Given the description of an element on the screen output the (x, y) to click on. 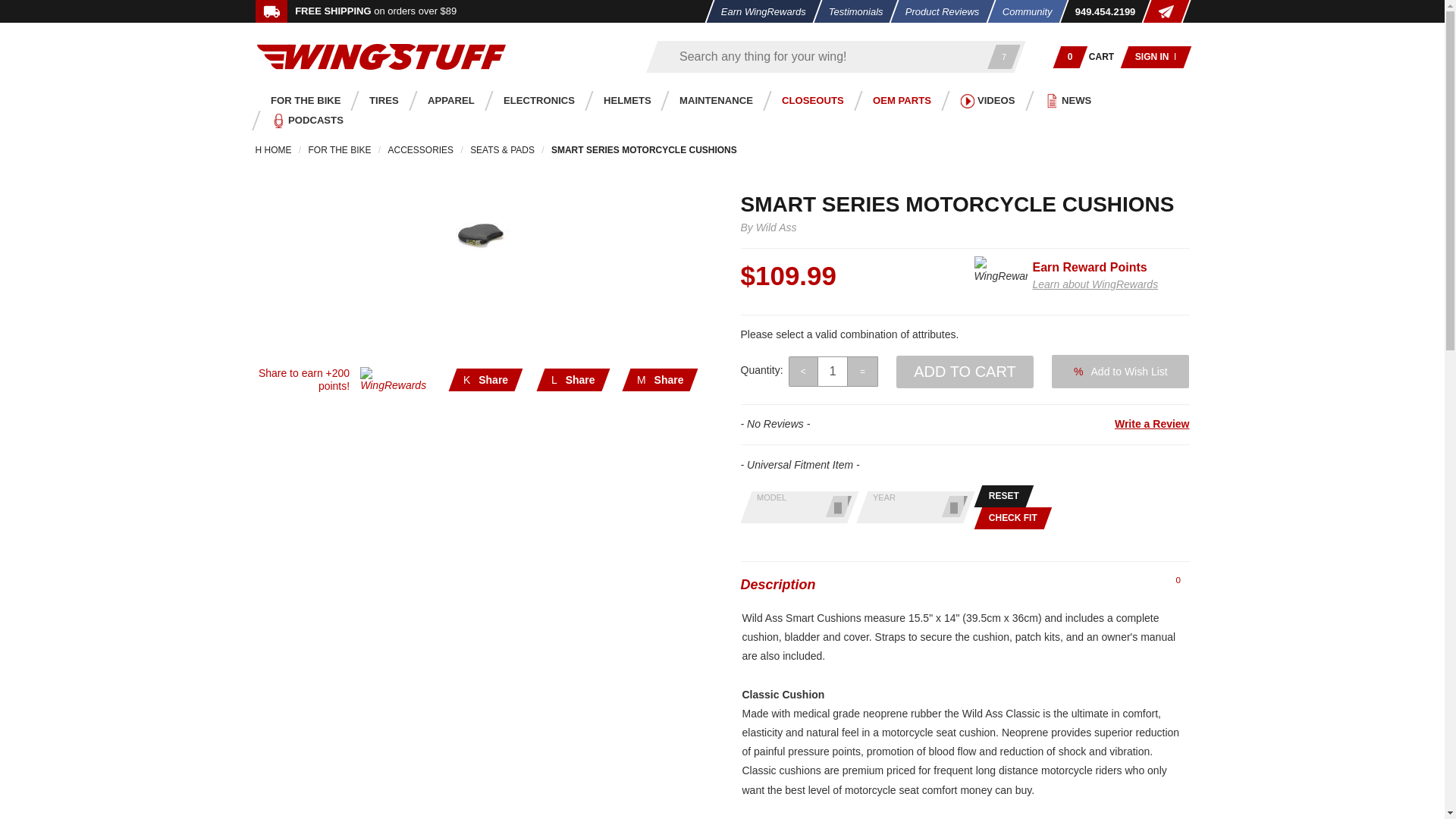
FOR THE BIKE (300, 100)
Earn WingRewards (758, 11)
CART (1101, 56)
Product Reviews (938, 11)
1 (832, 371)
Testimonials (850, 11)
WingStuff (380, 55)
949.454.2199 (1099, 11)
Community (1021, 11)
